Given the description of an element on the screen output the (x, y) to click on. 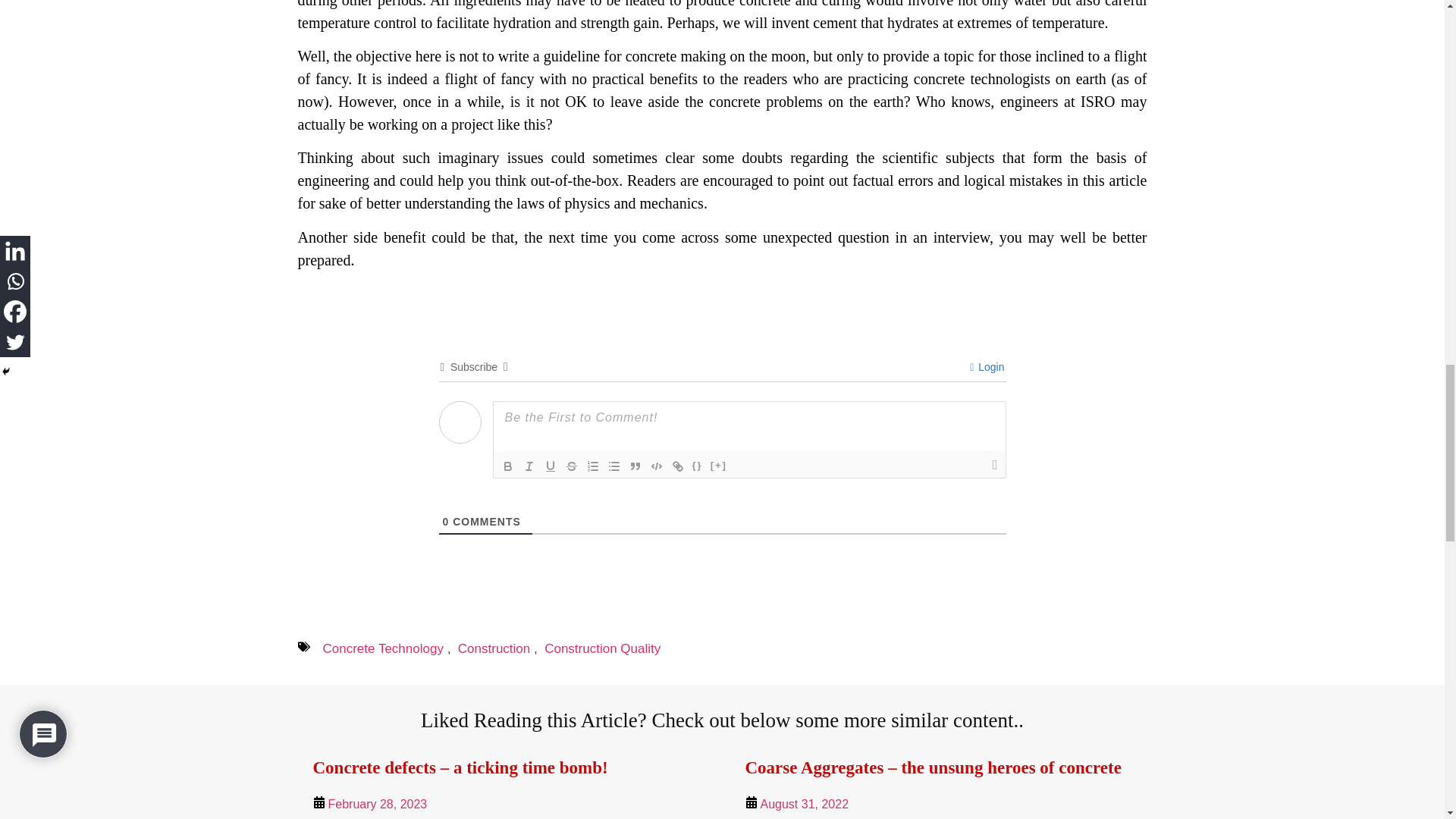
Link (677, 466)
Strike (571, 466)
Underline (550, 466)
Code Block (656, 466)
Ordered List (593, 466)
Unordered List (614, 466)
Italic (529, 466)
Bold (507, 466)
Blockquote (635, 466)
